Given the description of an element on the screen output the (x, y) to click on. 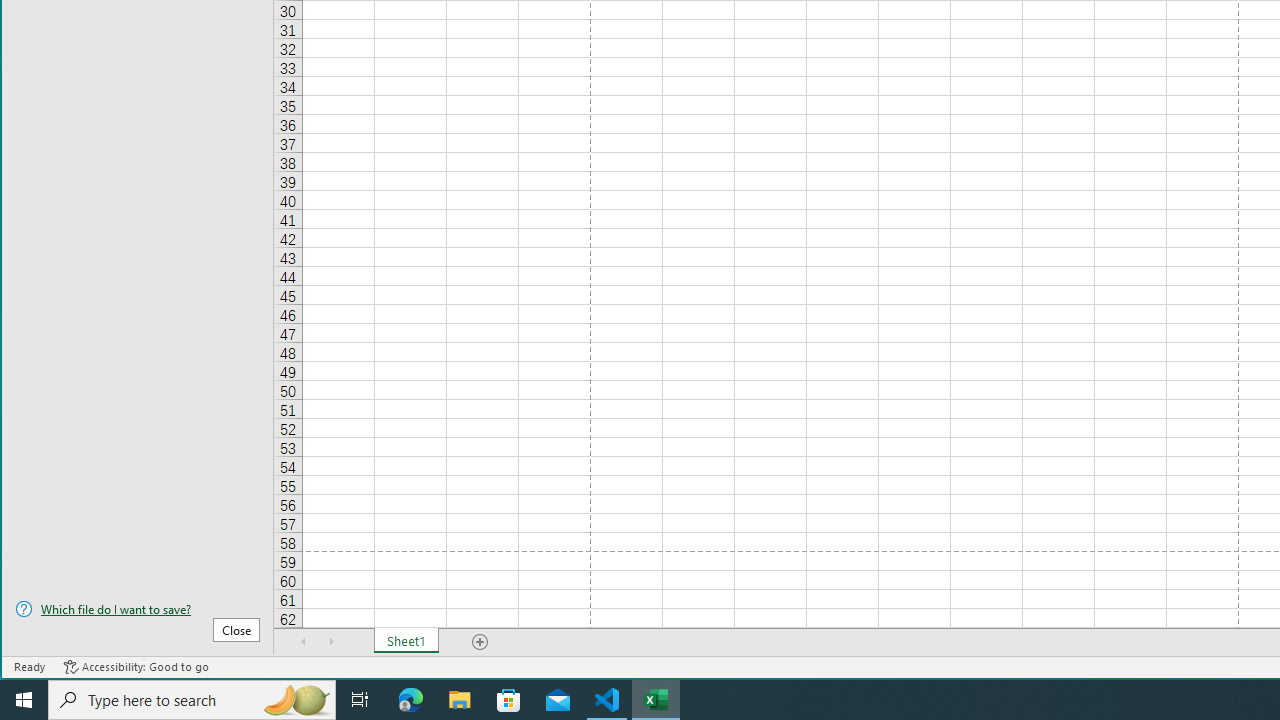
Task View (359, 699)
